Given the description of an element on the screen output the (x, y) to click on. 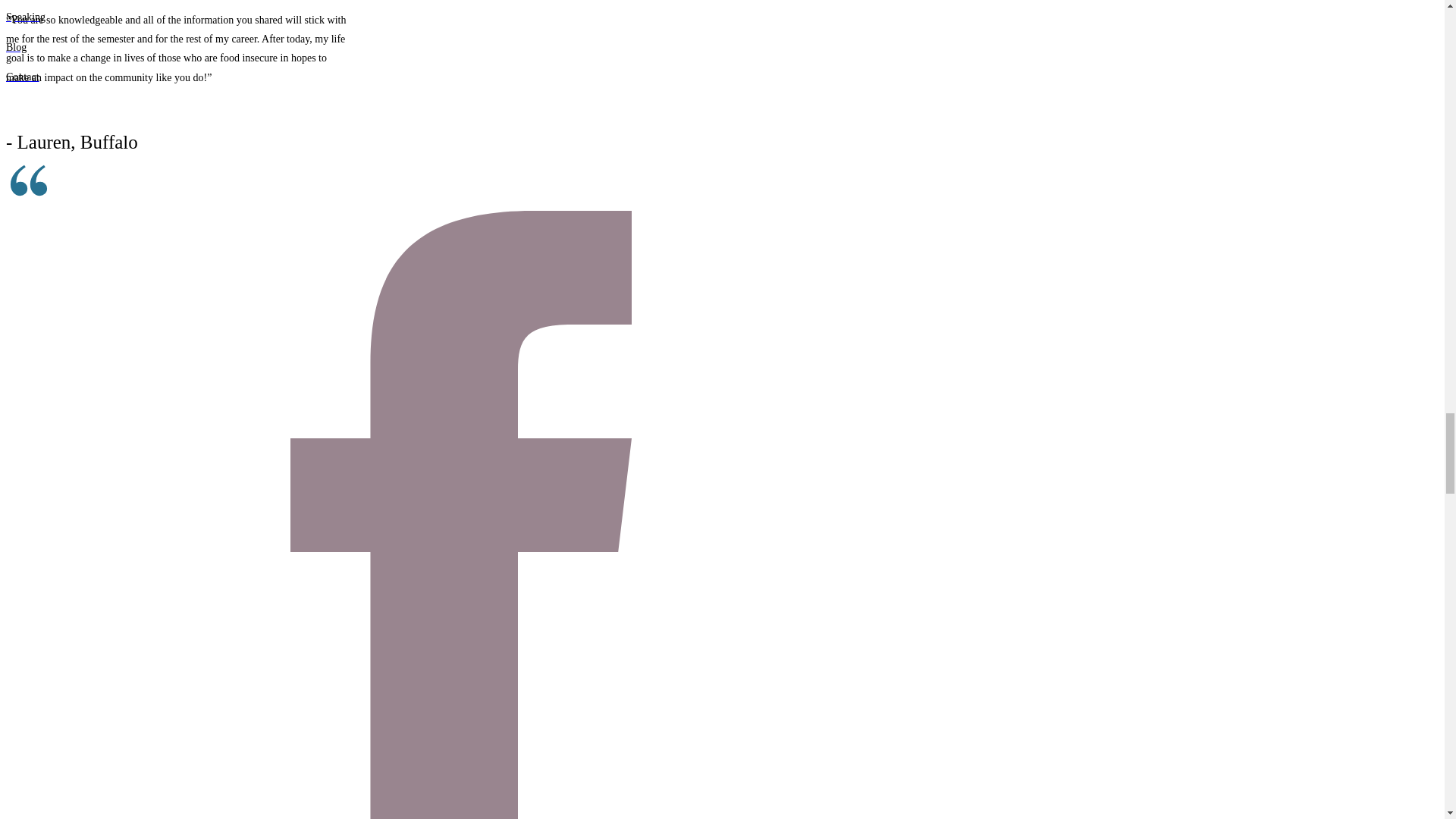
Blog (460, 46)
Contact (460, 76)
Speaking (460, 16)
